Given the description of an element on the screen output the (x, y) to click on. 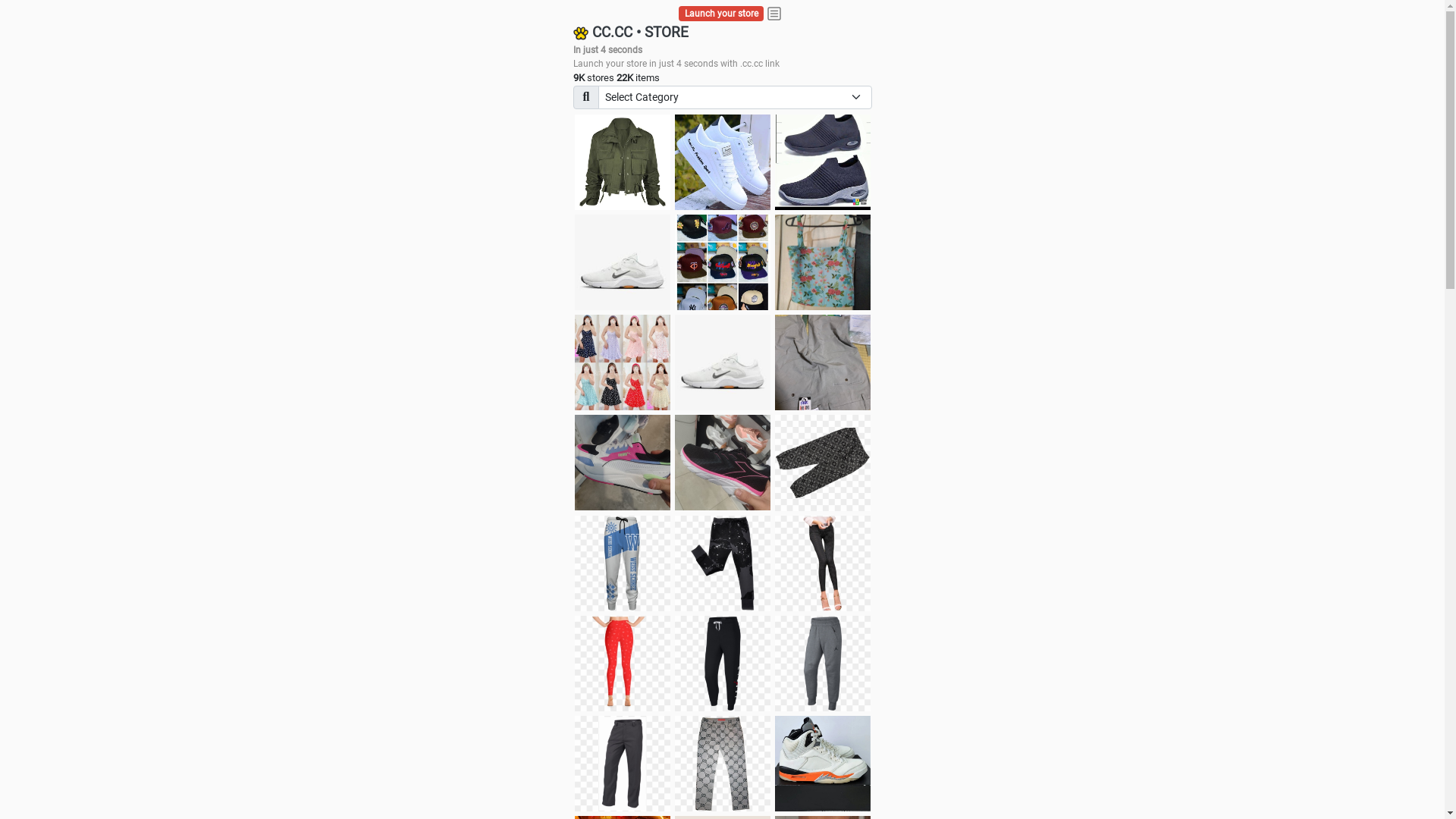
Pant Element type: hover (622, 563)
Ukay cloth Element type: hover (822, 262)
Pant Element type: hover (622, 763)
Pant Element type: hover (722, 663)
Things we need Element type: hover (722, 262)
Pant Element type: hover (622, 663)
Short pant Element type: hover (822, 462)
Pant Element type: hover (722, 563)
Zapatillas pumas Element type: hover (622, 462)
shoes for boys Element type: hover (822, 162)
jacket Element type: hover (622, 162)
Dress/square nect top Element type: hover (622, 362)
Shoes Element type: hover (722, 362)
white shoes Element type: hover (722, 162)
Zapatillas Element type: hover (722, 462)
Pant Element type: hover (822, 563)
Launch your store Element type: text (721, 13)
Shoe Element type: hover (822, 763)
Pant Element type: hover (822, 663)
Shoes for boys Element type: hover (622, 262)
Pant Element type: hover (722, 763)
